Given the description of an element on the screen output the (x, y) to click on. 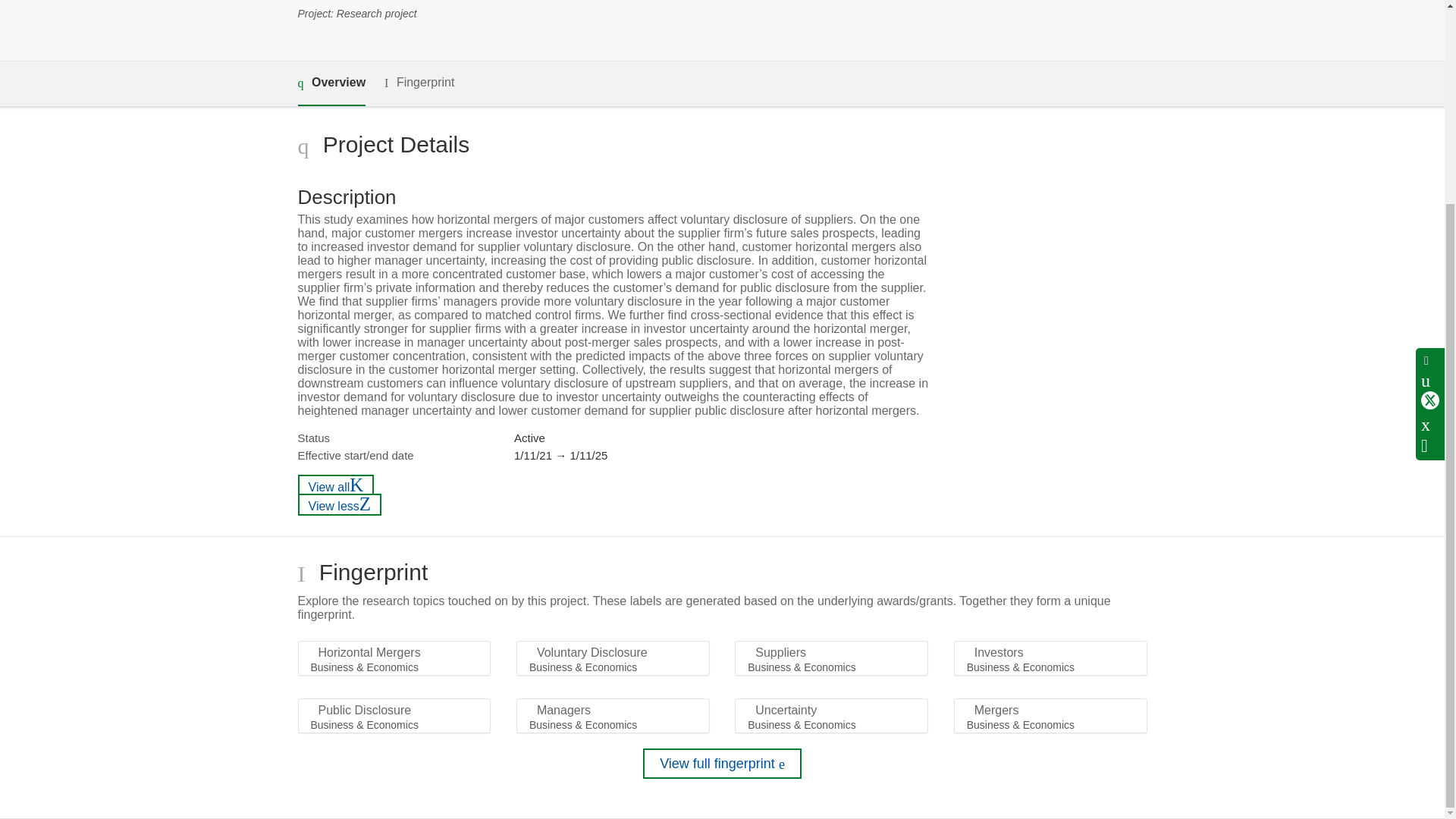
View full fingerprint (722, 763)
Overview (331, 83)
View all (335, 485)
Fingerprint (419, 82)
View less (339, 504)
